Given the description of an element on the screen output the (x, y) to click on. 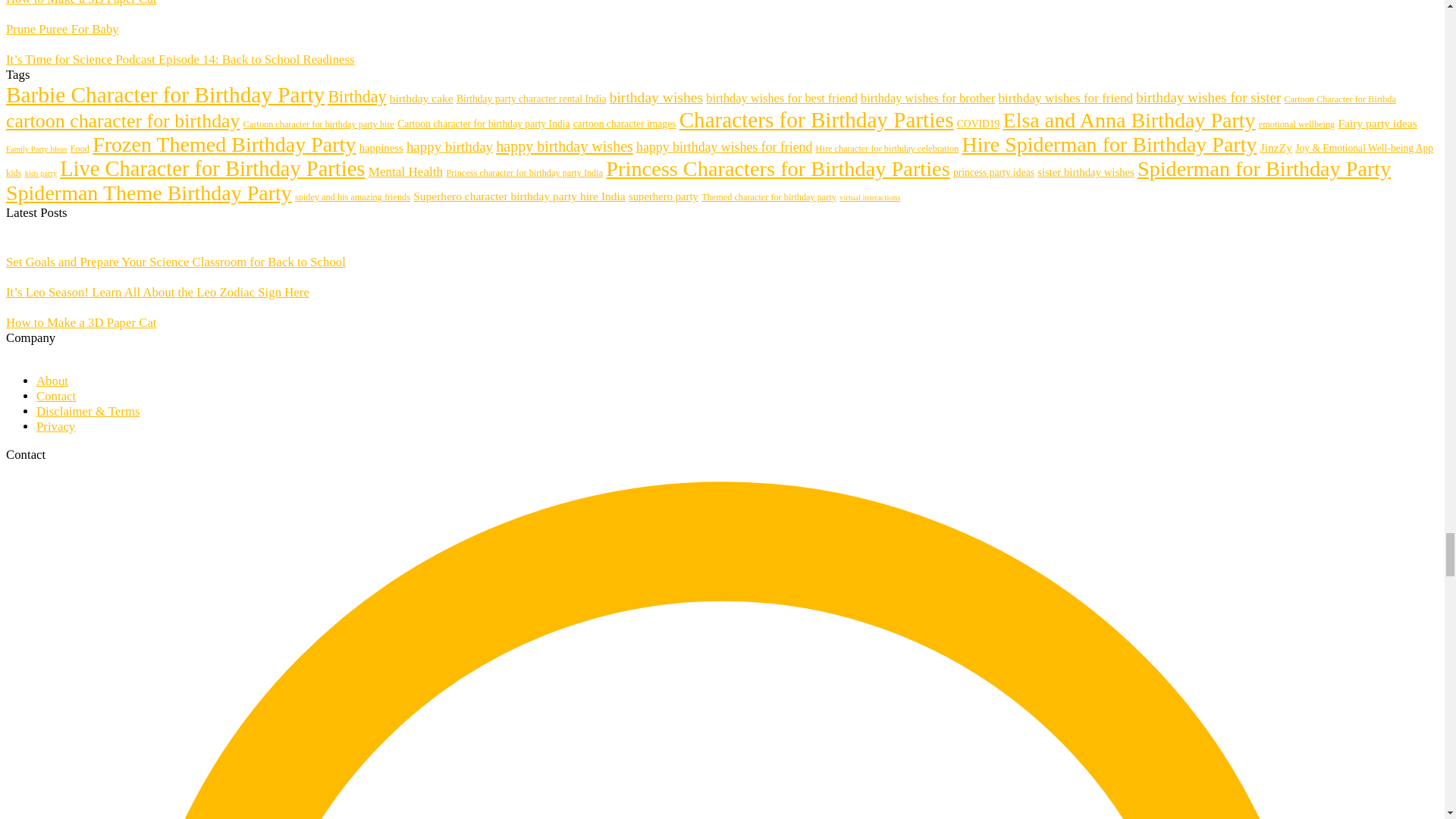
How to Make a 3D Paper Cat (81, 2)
